Given the description of an element on the screen output the (x, y) to click on. 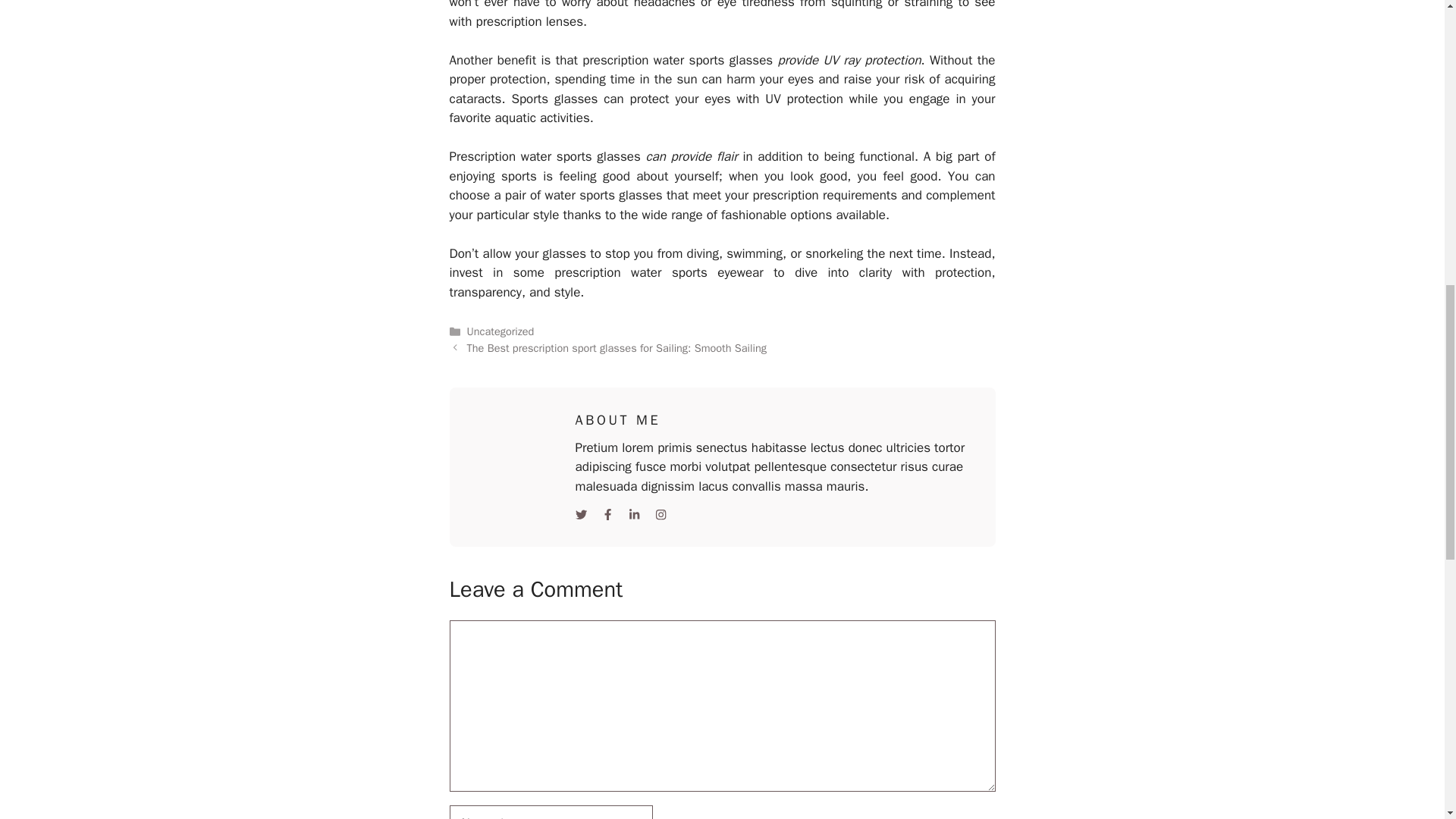
Uncategorized (500, 331)
